Given the description of an element on the screen output the (x, y) to click on. 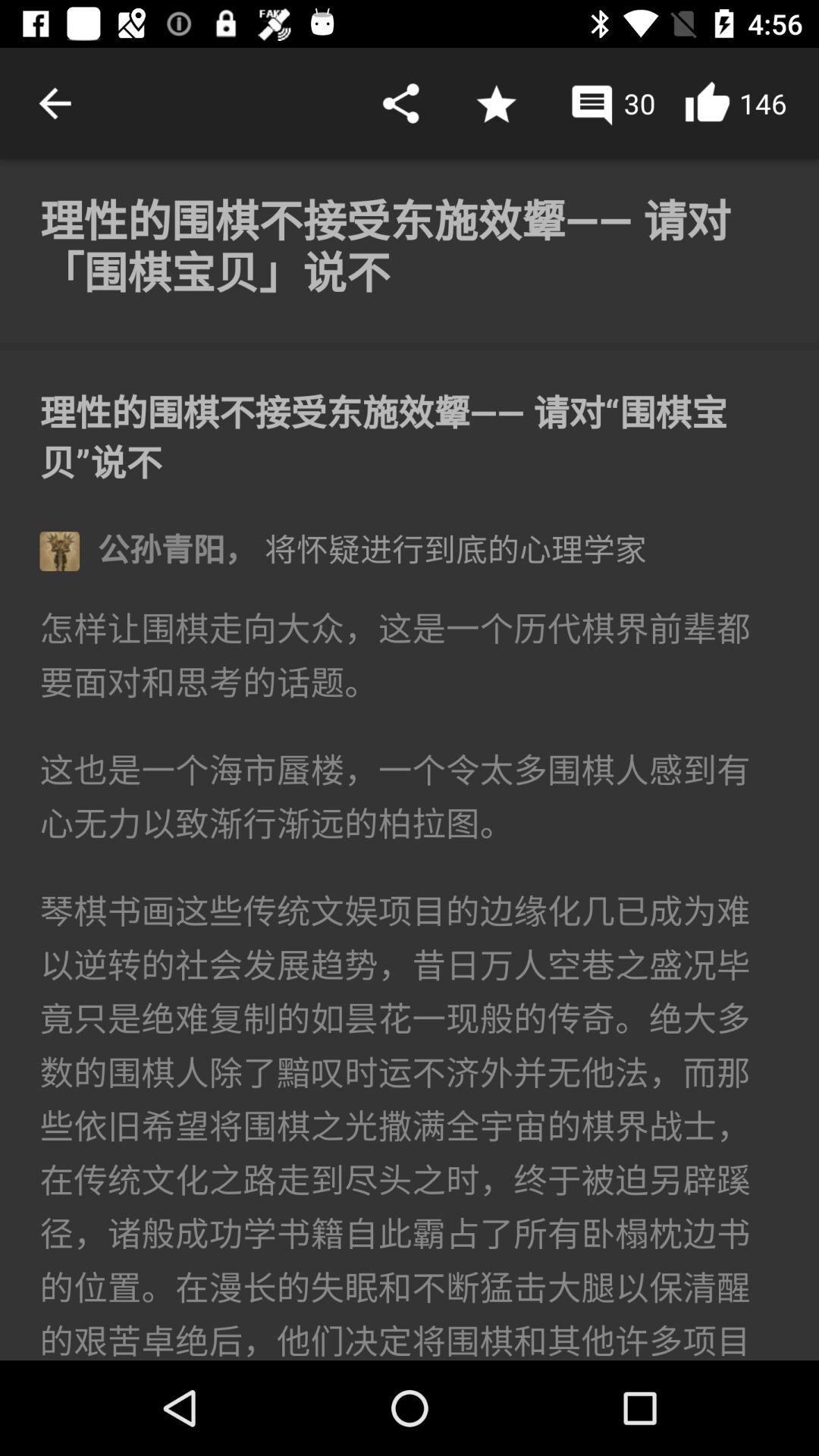
go to share (400, 103)
